Given the description of an element on the screen output the (x, y) to click on. 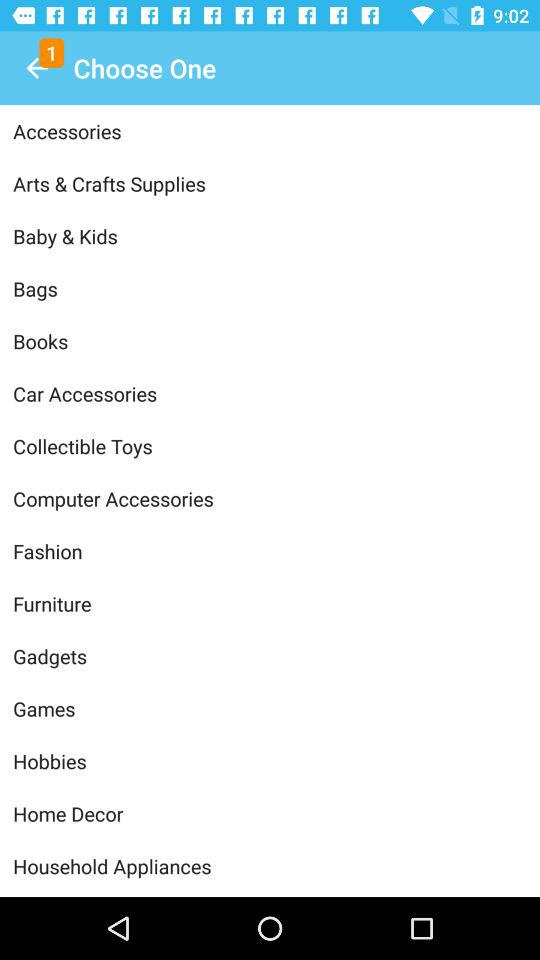
click the icon above games icon (269, 656)
